Given the description of an element on the screen output the (x, y) to click on. 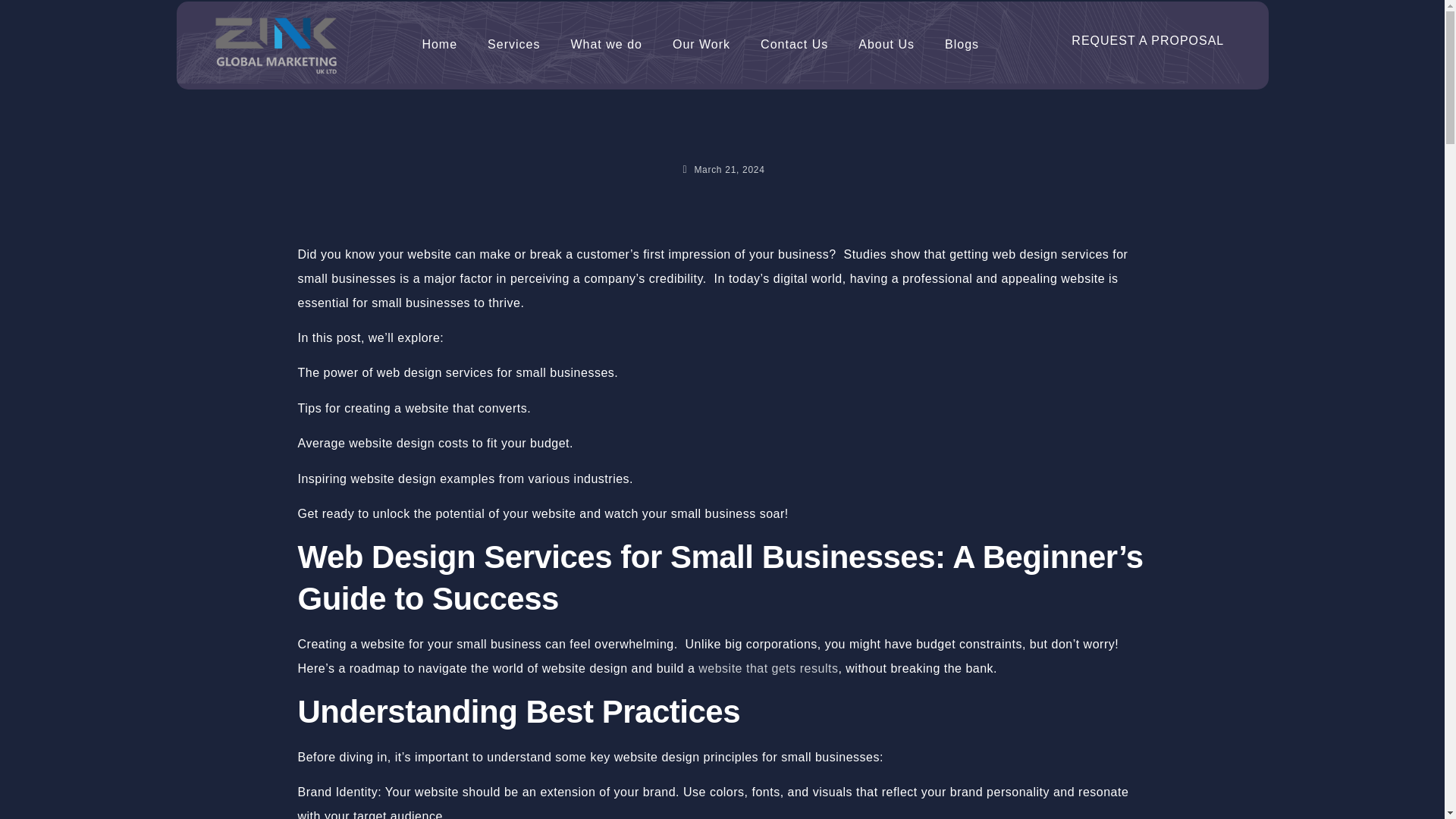
Our Work (701, 44)
Home (438, 44)
March 21, 2024 (721, 169)
REQUEST A PROPOSAL (1148, 40)
website that gets results (768, 667)
What we do (605, 44)
Contact Us (794, 44)
Services (512, 44)
About Us (886, 44)
Blogs (962, 44)
